Given the description of an element on the screen output the (x, y) to click on. 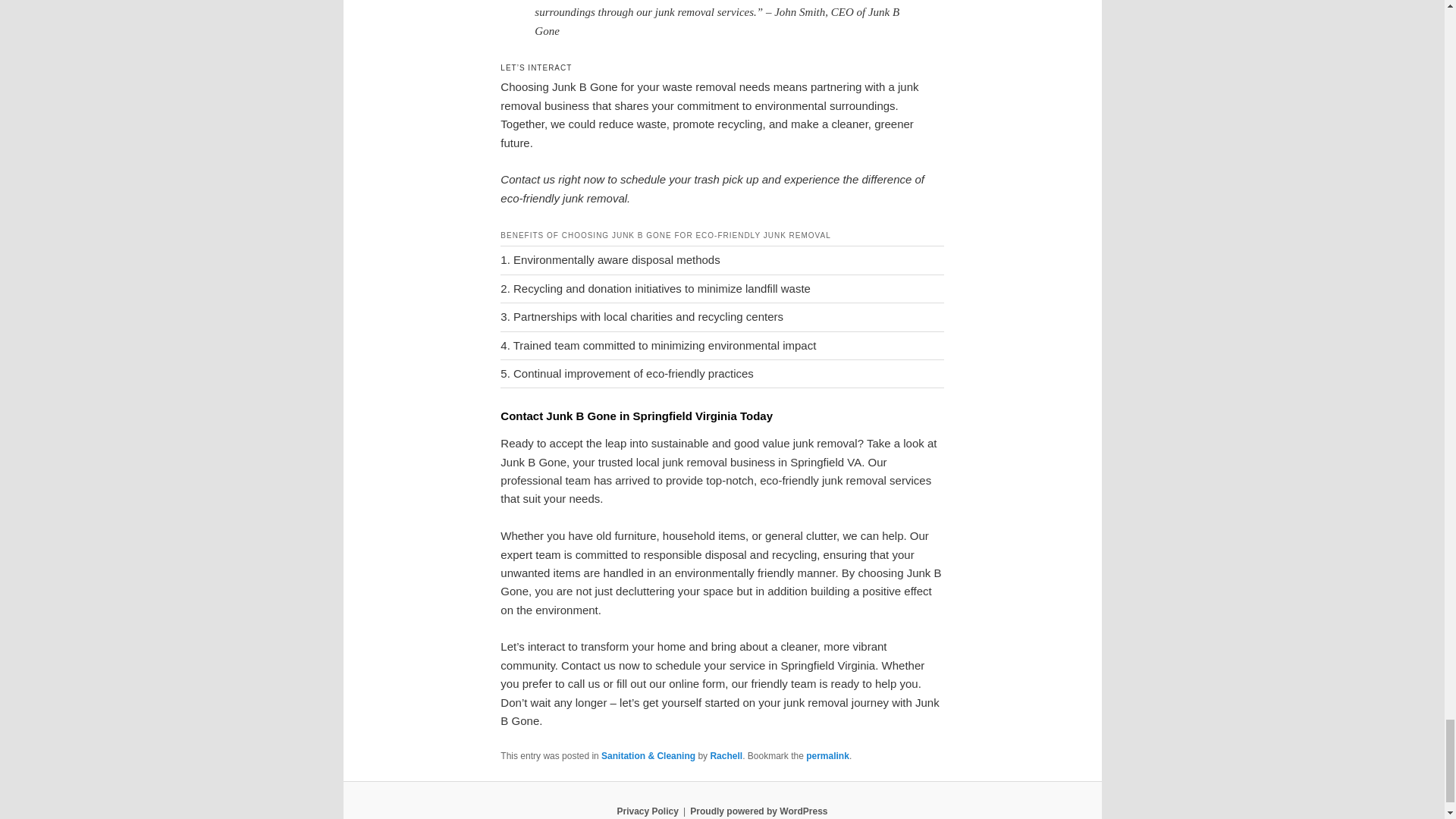
Rachell (726, 756)
permalink (827, 756)
Semantic Personal Publishing Platform (758, 810)
Proudly powered by WordPress (758, 810)
Permalink to Say Goodbye to Junk in Springfield VA (827, 756)
Privacy Policy (646, 810)
